Given the description of an element on the screen output the (x, y) to click on. 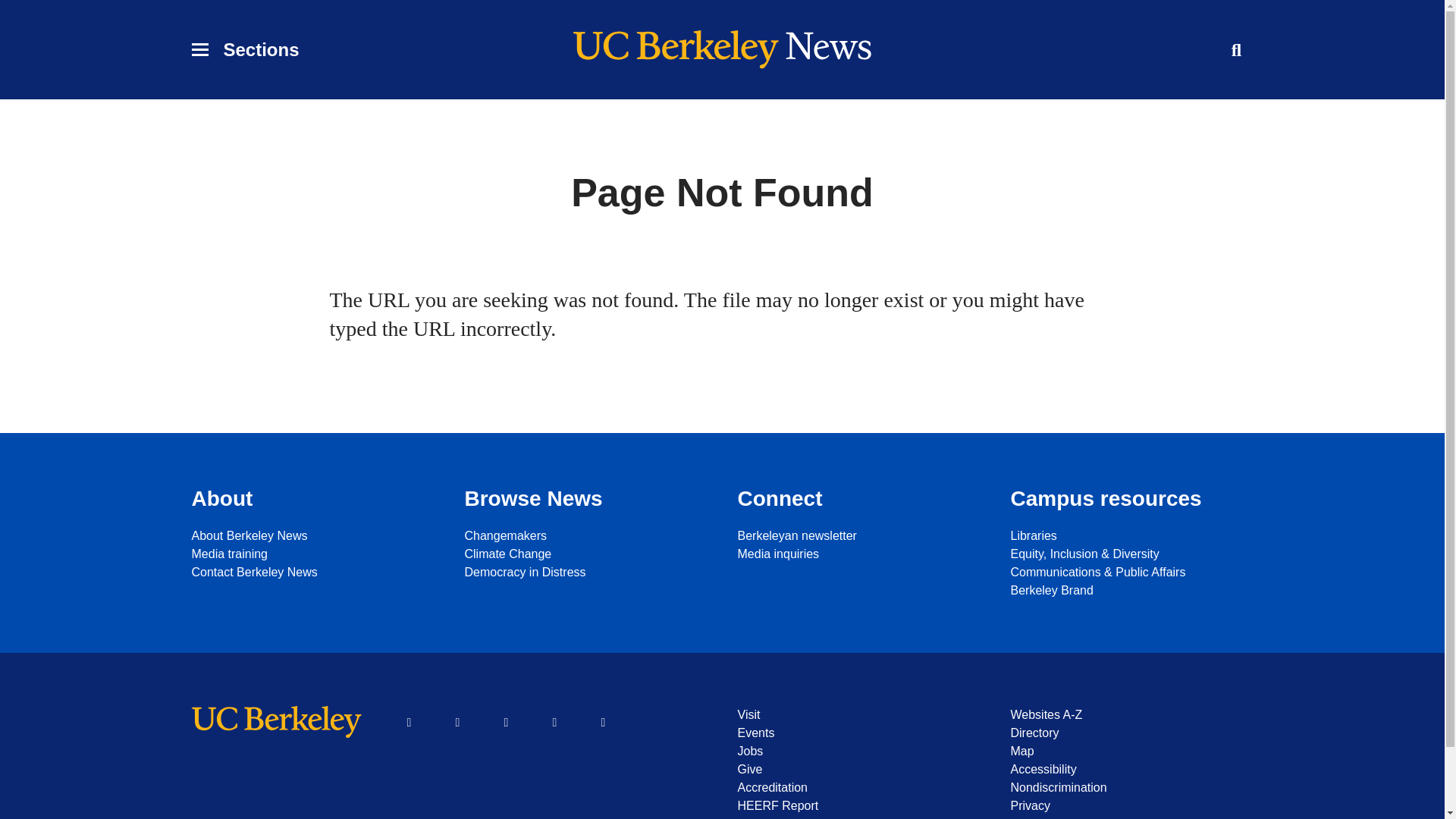
Websites A-Z (1131, 714)
Visit (857, 714)
Privacy (1131, 805)
Events (857, 732)
Climate Change (585, 554)
Libraries (1131, 536)
Contact Berkeley News (311, 572)
Medium (603, 722)
Expand Search Form (1236, 49)
Jobs (857, 751)
